Given the description of an element on the screen output the (x, y) to click on. 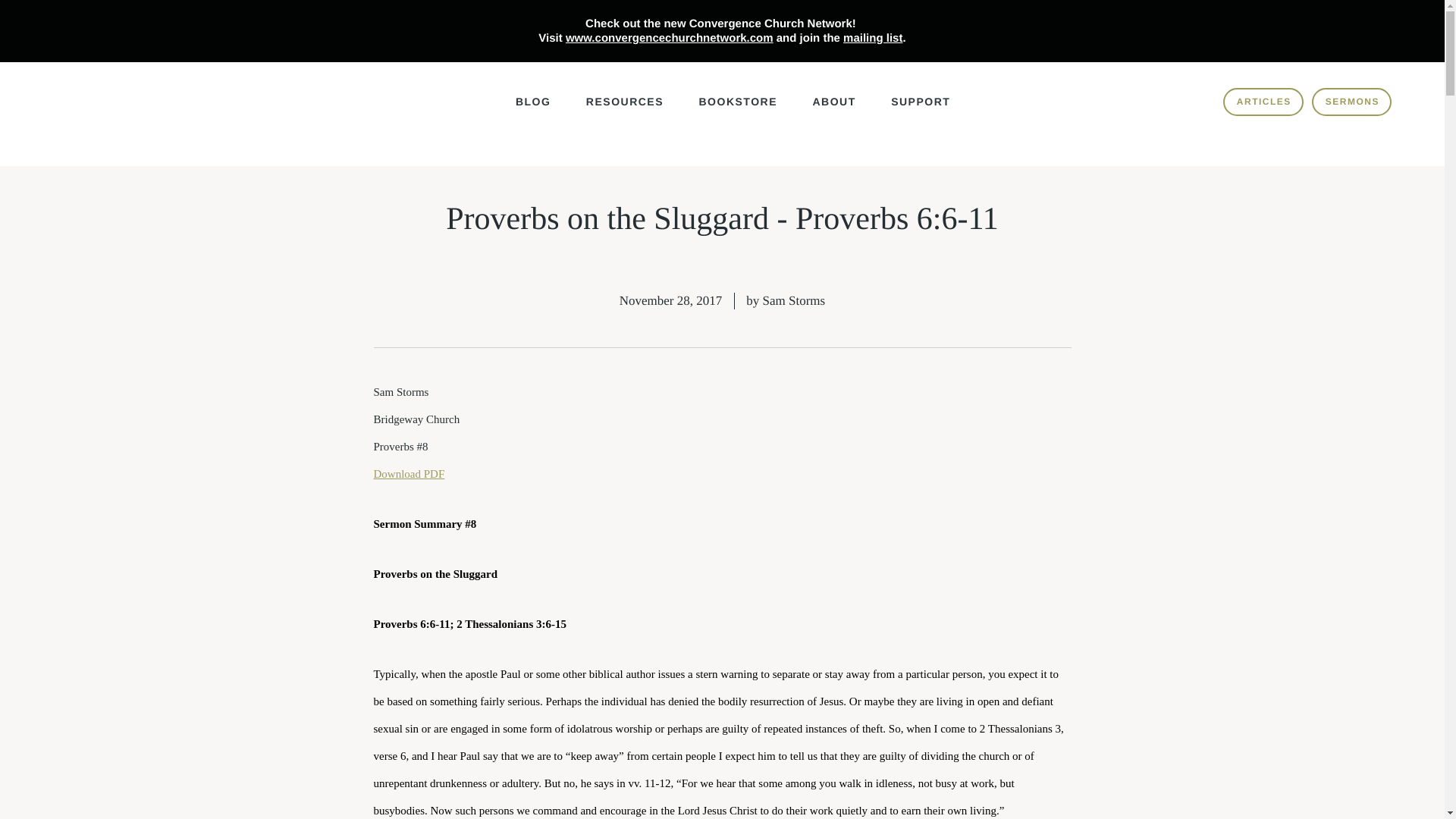
Download PDF (408, 472)
mailing list (872, 38)
www.convergencechurchnetwork.com (669, 38)
BLOG (532, 111)
ARTICLES (1262, 101)
BOOKSTORE (737, 111)
SUPPORT (920, 111)
SERMONS (1351, 101)
RESOURCES (624, 111)
ABOUT (834, 111)
